Given the description of an element on the screen output the (x, y) to click on. 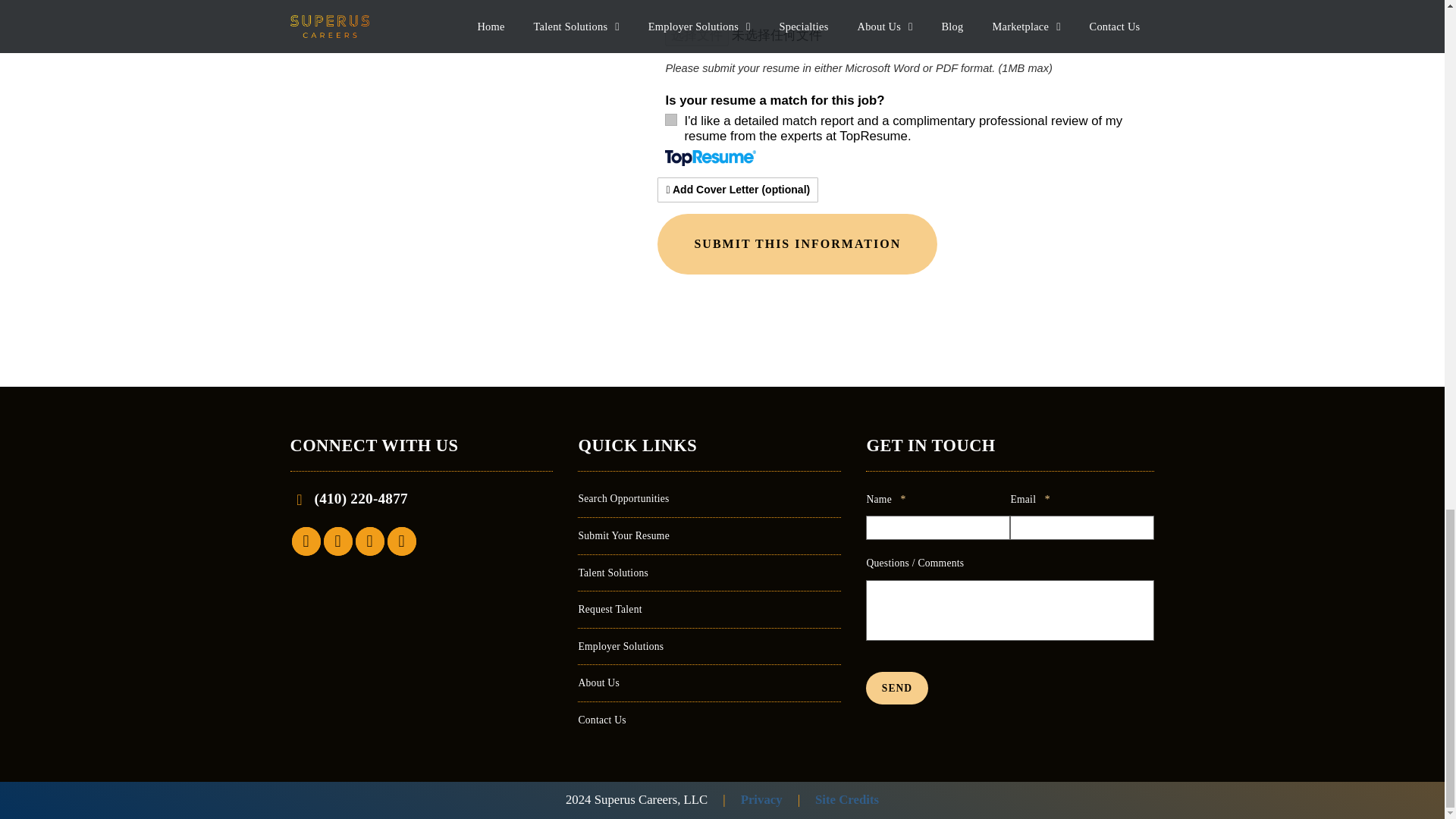
Send (896, 687)
